Given the description of an element on the screen output the (x, y) to click on. 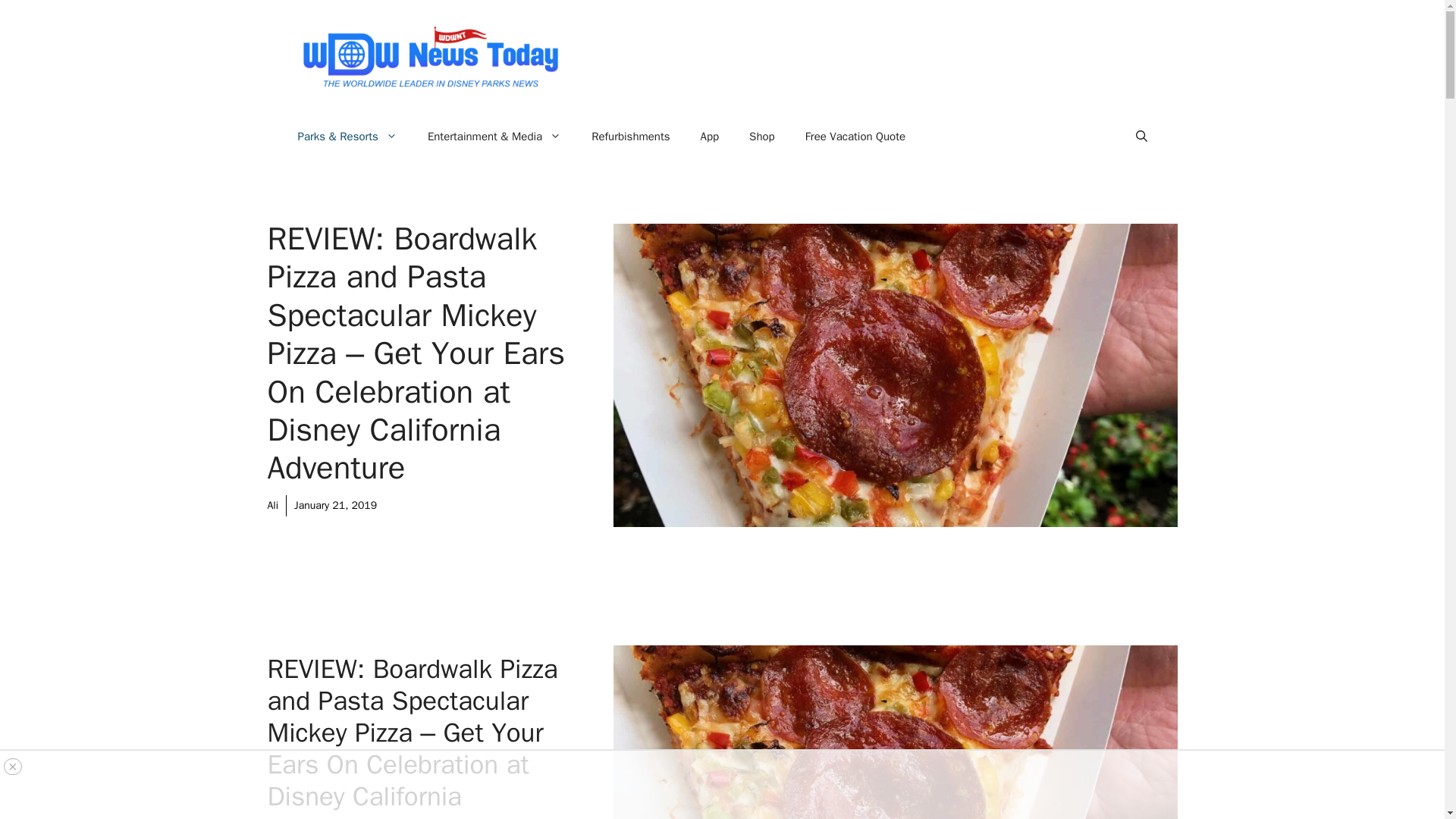
Refurbishments (630, 135)
Shop (761, 135)
App (710, 135)
Free Vacation Quote (855, 135)
